Given the description of an element on the screen output the (x, y) to click on. 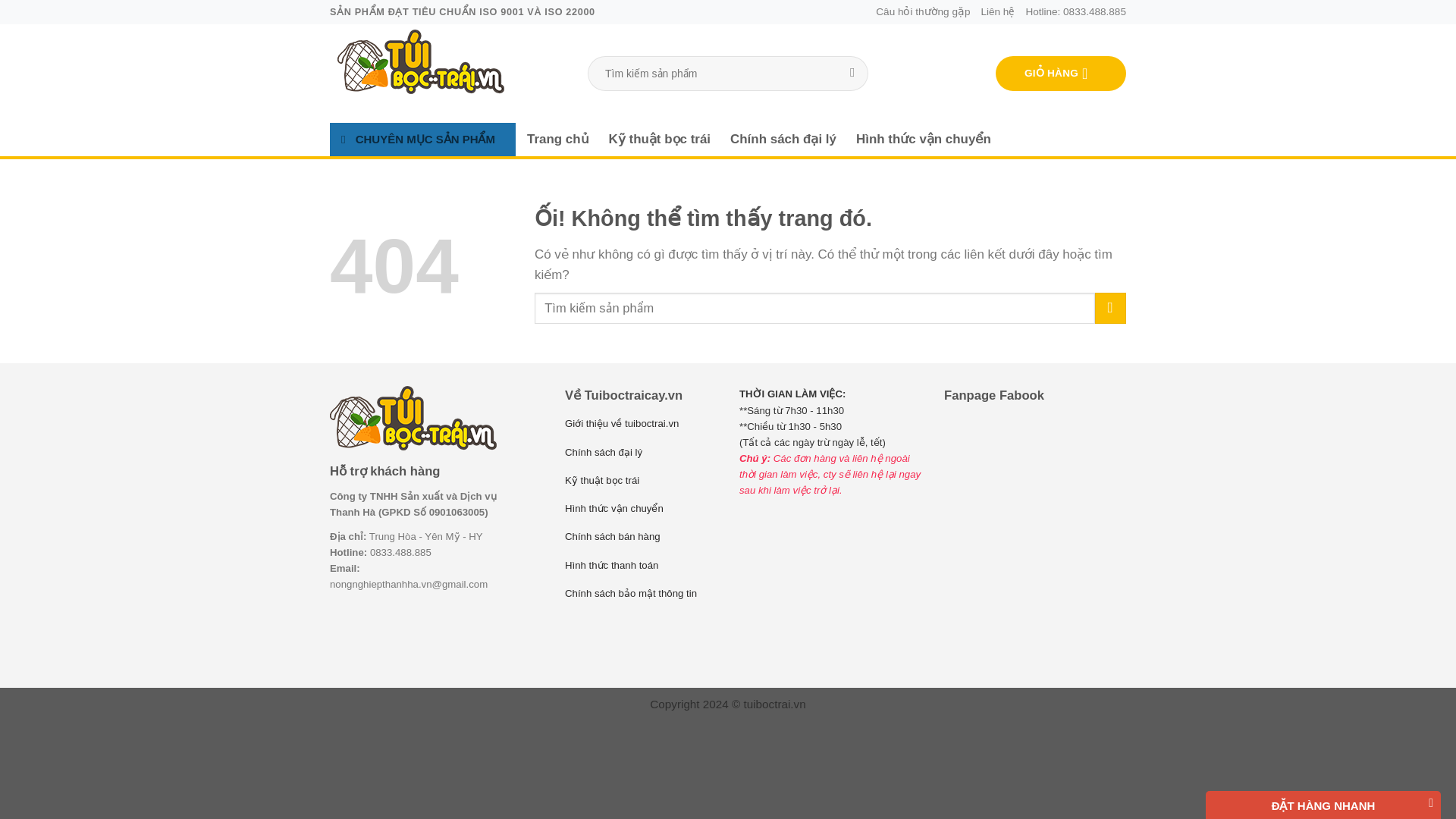
Hotline: 0833.488.885 (1075, 12)
